Given the description of an element on the screen output the (x, y) to click on. 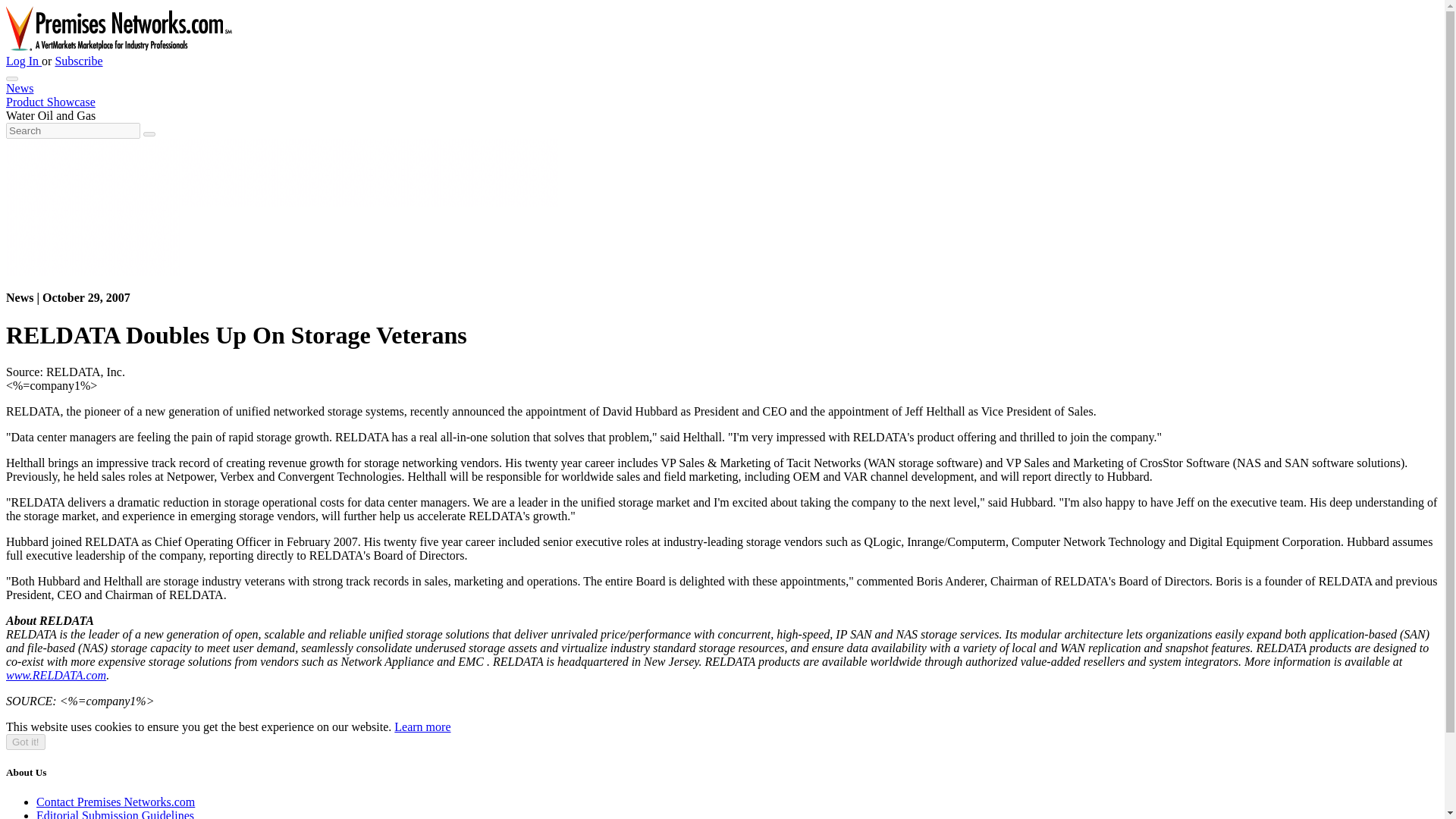
3rd party ad content (92, 241)
Subscribe (78, 60)
Oil and Gas (66, 115)
Log In (23, 60)
www.RELDATA.com (55, 675)
Contact Premises Networks.com (115, 801)
Editorial Submission Guidelines (114, 814)
Learn more (421, 726)
Got it! (25, 741)
3rd party ad content (281, 172)
Water (19, 115)
News (19, 88)
Product Showcase (50, 101)
